Given the description of an element on the screen output the (x, y) to click on. 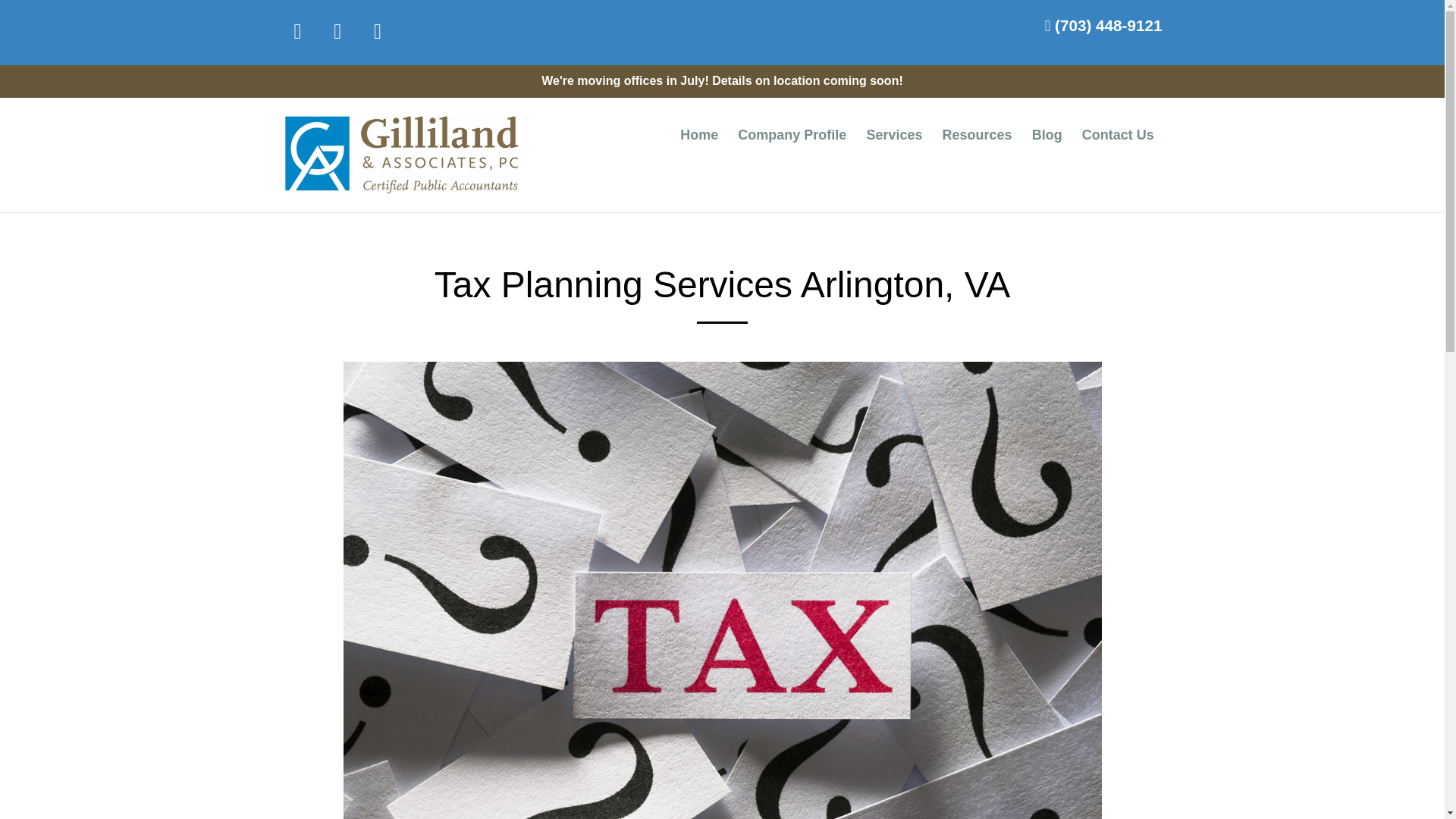
Resources (977, 135)
Services (895, 135)
Contact Us (1117, 135)
Home (698, 135)
Company Profile (793, 135)
Blog (1046, 135)
